Given the description of an element on the screen output the (x, y) to click on. 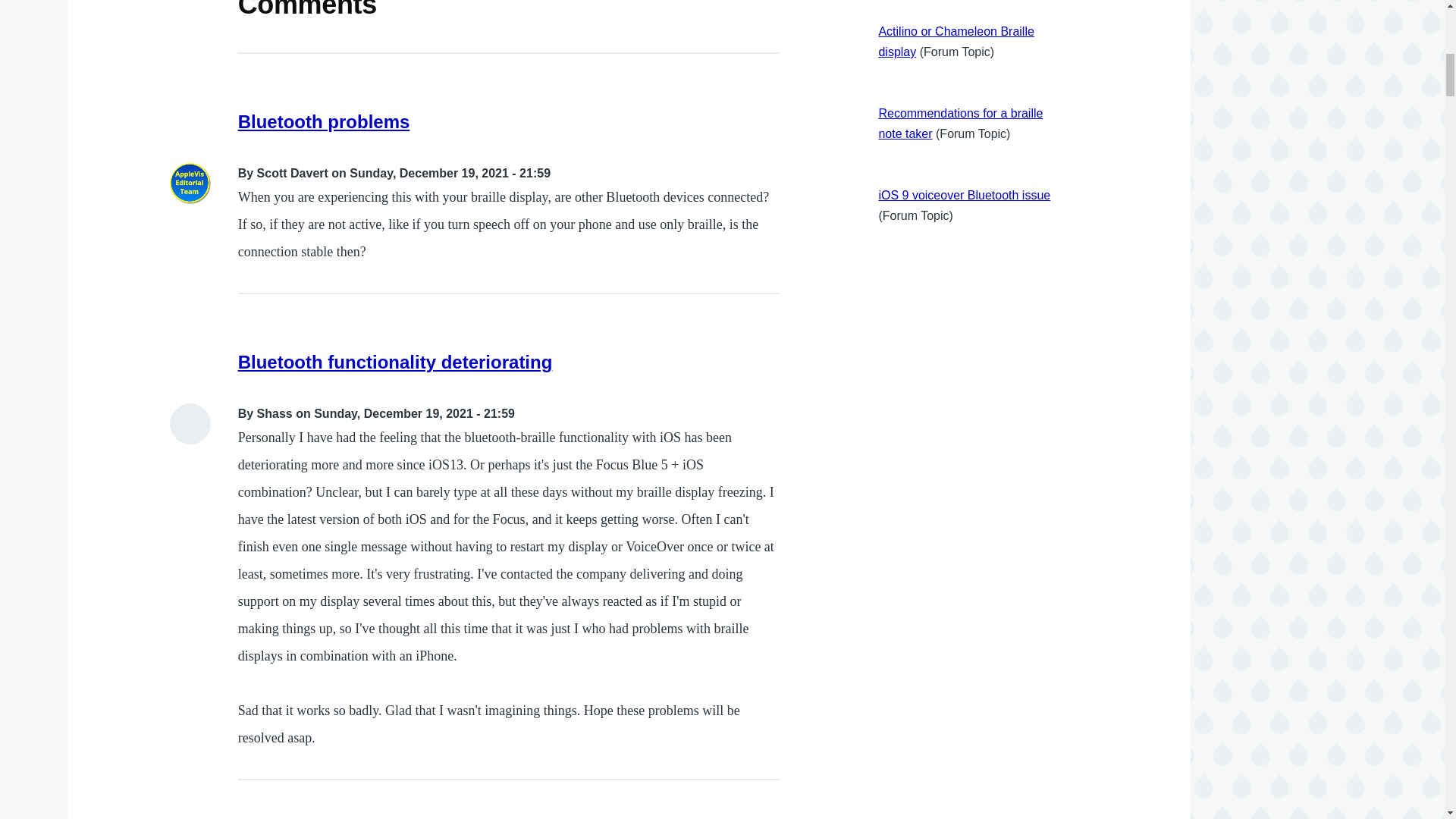
Bluetooth functionality deteriorating (395, 362)
Bluetooth problems (324, 121)
